Given the description of an element on the screen output the (x, y) to click on. 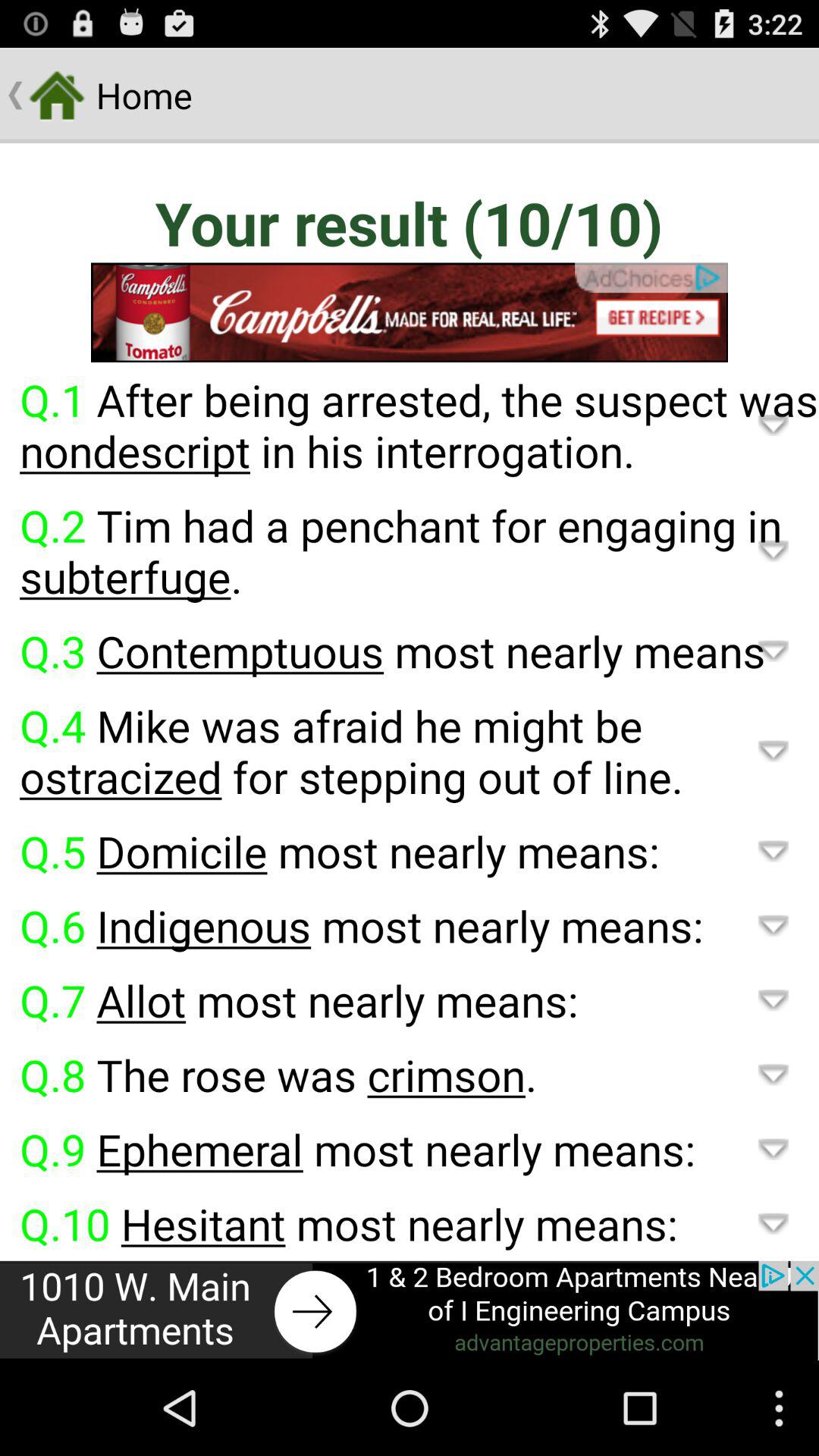
share the article (409, 1310)
